Given the description of an element on the screen output the (x, y) to click on. 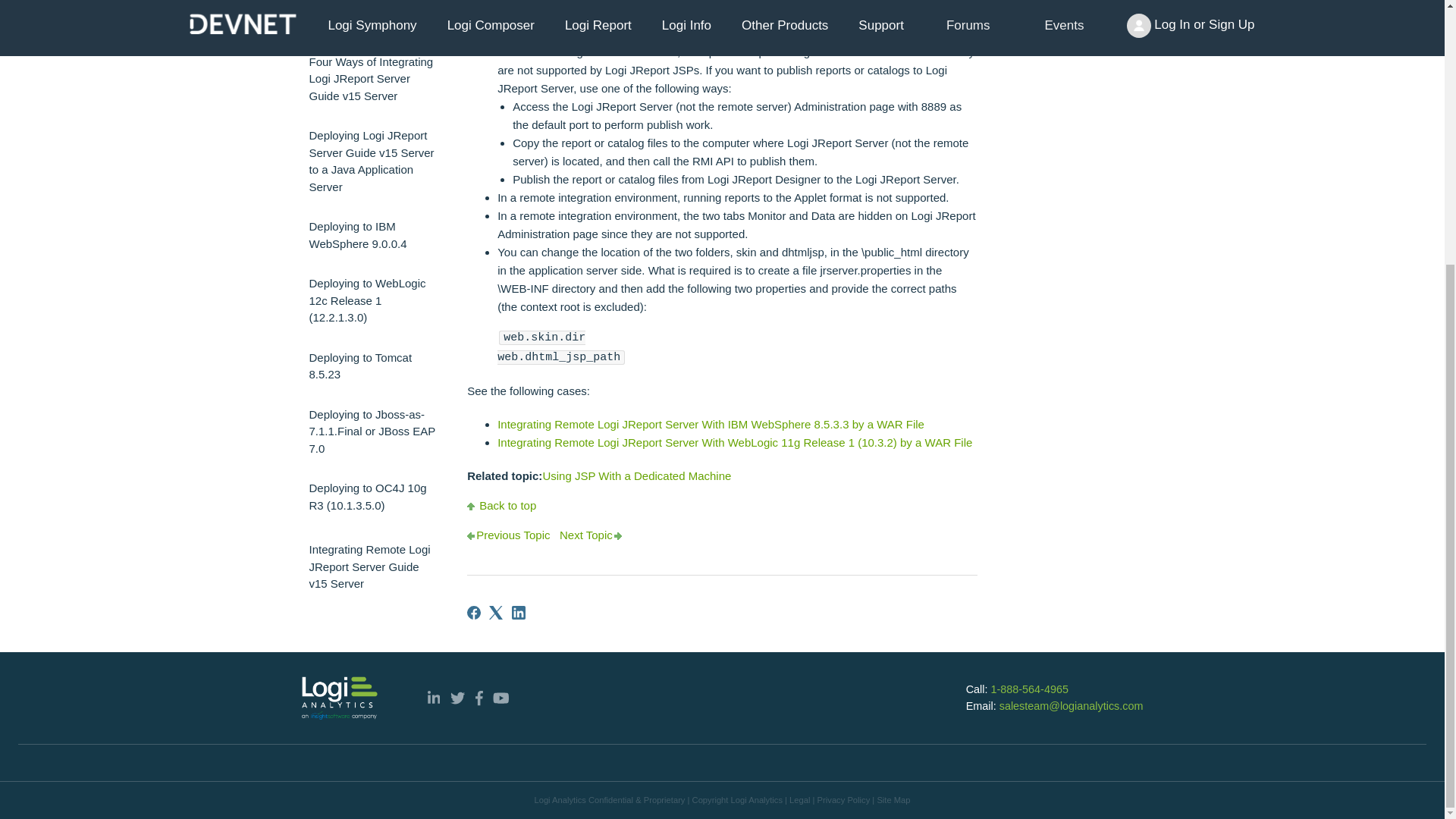
Integrating Remote Logi JReport Server Guide v15 Server (373, 566)
Find Logi Analytics on Twitter (456, 698)
Find Logi Analytics on YouTube (501, 698)
Click to go to the top (501, 504)
